Given the description of an element on the screen output the (x, y) to click on. 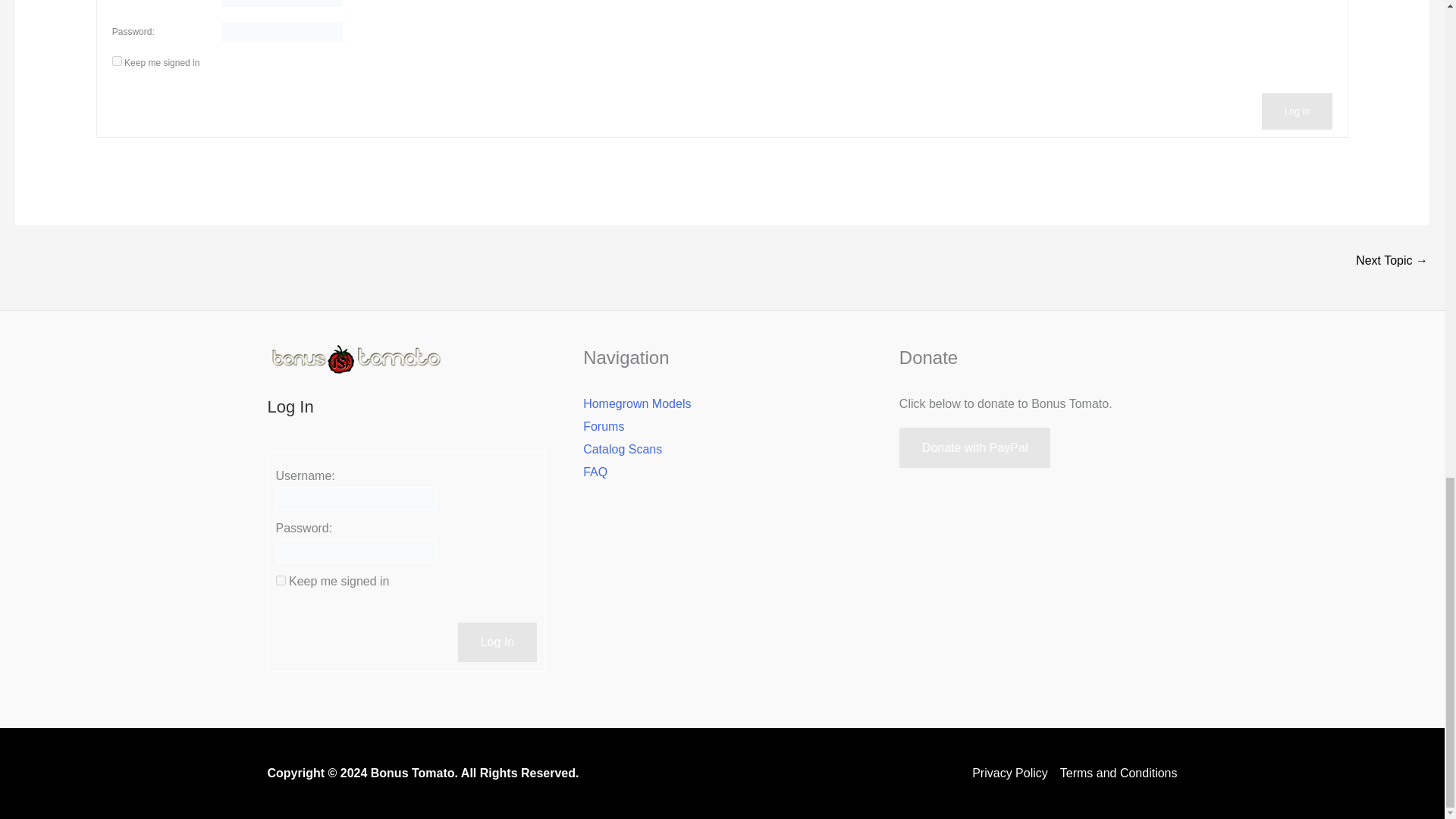
forever (117, 61)
forever (280, 580)
